Given the description of an element on the screen output the (x, y) to click on. 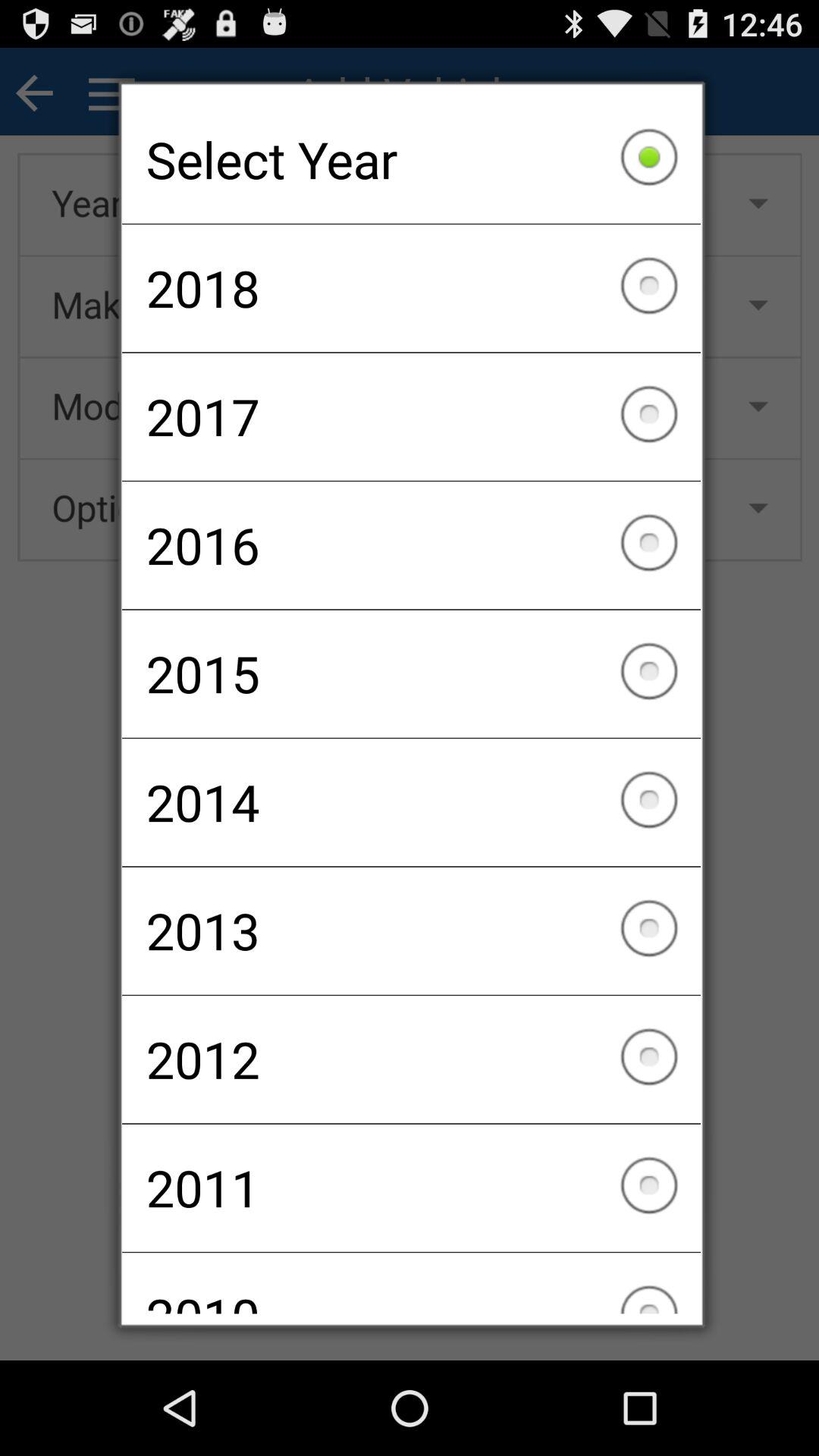
select the icon above 2017 checkbox (411, 288)
